Given the description of an element on the screen output the (x, y) to click on. 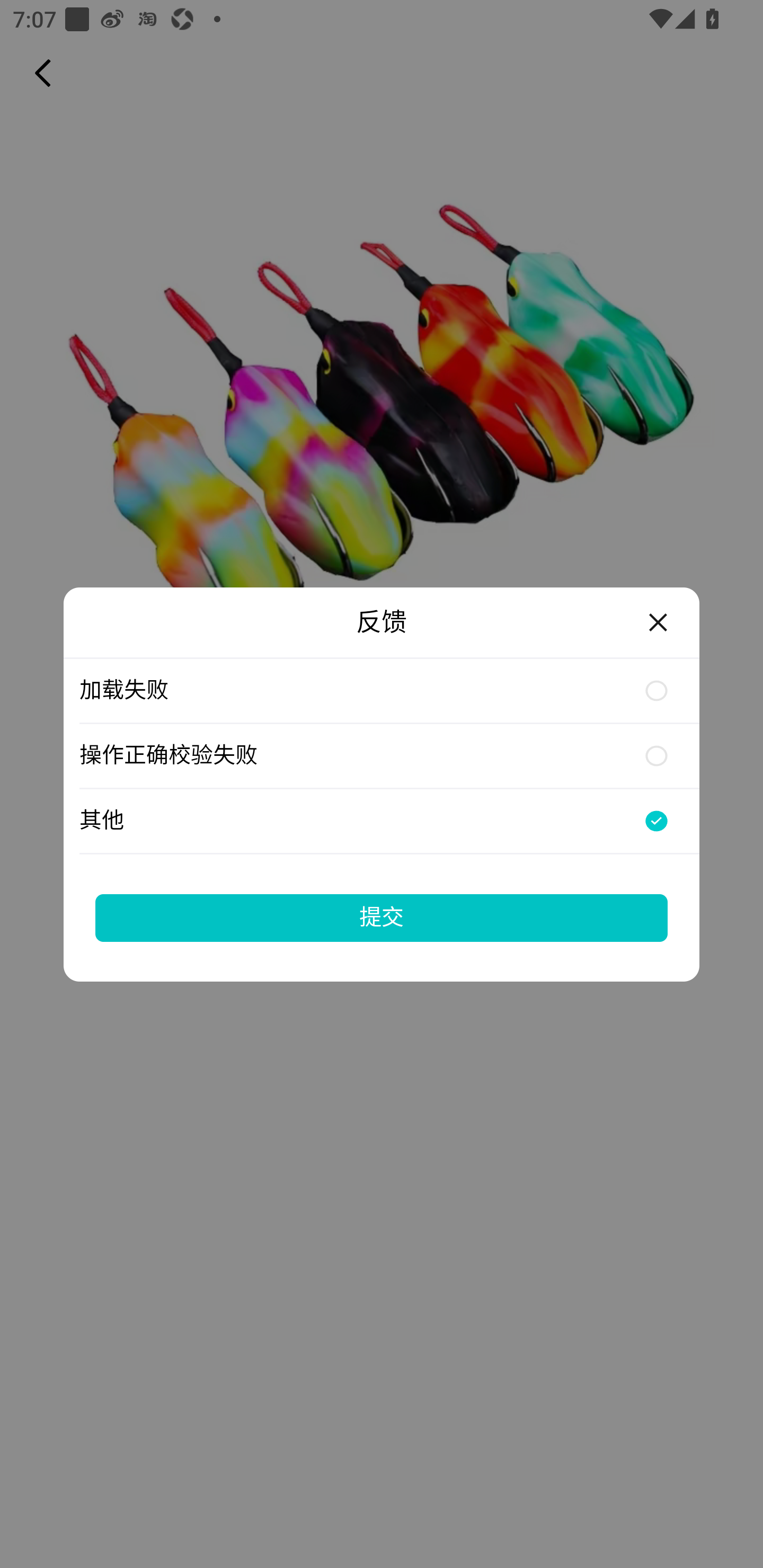
提交 (381, 917)
